Given the description of an element on the screen output the (x, y) to click on. 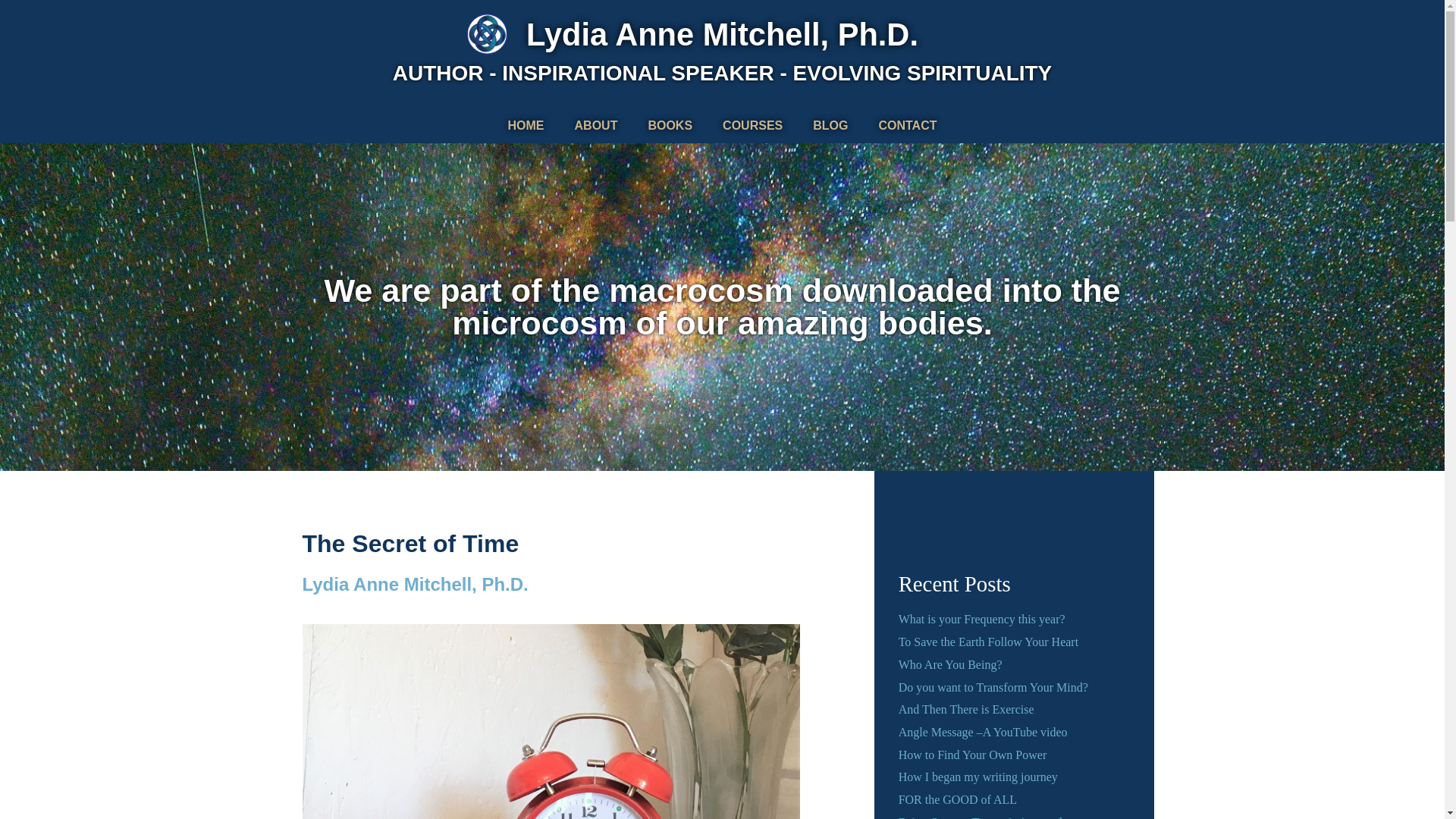
What is your Frequency this year? (981, 618)
Do you want to Transform Your Mind? (992, 686)
And Then There is Exercise (965, 708)
BOOKS (669, 125)
How to Find Your Own Power (972, 754)
Lydia Anne Mitchell, Ph.D. (721, 34)
HOME (526, 125)
BLOG (830, 125)
Who Are You Being? (950, 664)
COURSES (752, 125)
